Given the description of an element on the screen output the (x, y) to click on. 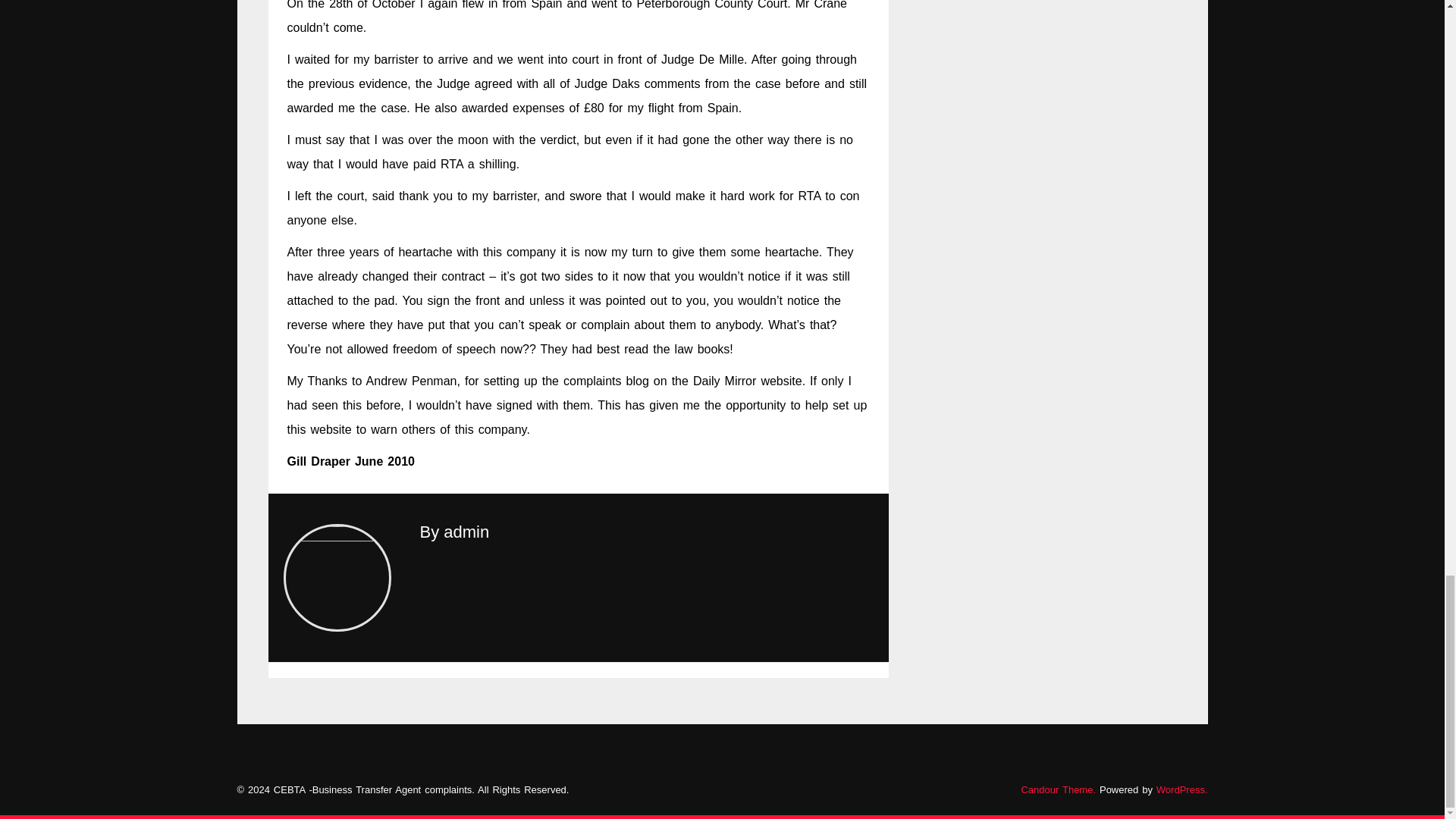
Candour Theme. (1058, 789)
WordPress. (1182, 789)
By admin (454, 531)
